Given the description of an element on the screen output the (x, y) to click on. 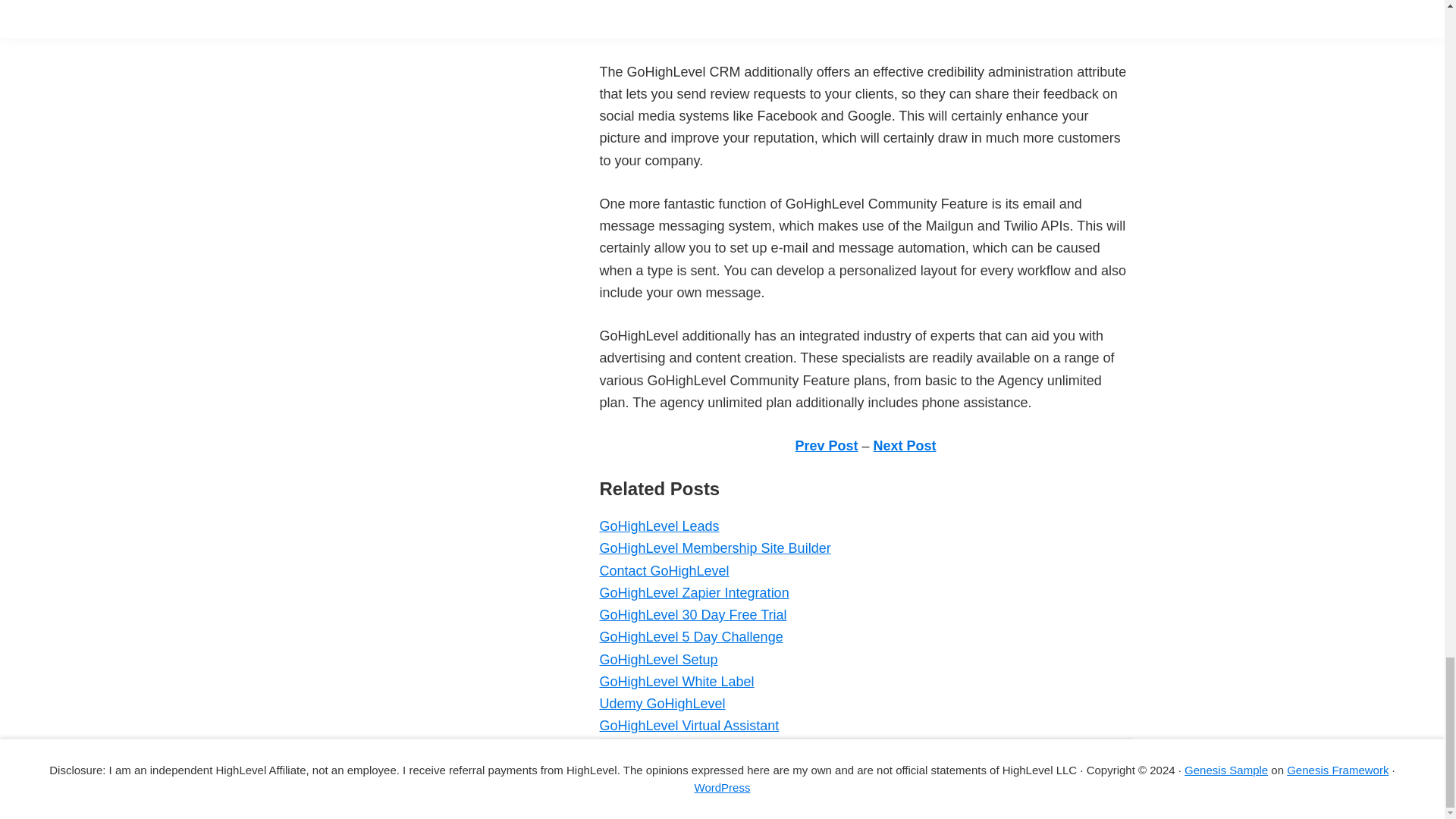
GoHighLevel White Label (676, 681)
GoHighLevel 5 Day Challenge (690, 636)
GoHighLevel Setup (657, 659)
GoHighLevel 30 Day Free Trial (692, 614)
GoHighLevel Virtual Assistant (688, 725)
Udemy GoHighLevel (661, 703)
GoHighLevel Leads (658, 525)
GoHighLevel Setup (657, 659)
GoHighLevel Leads (658, 525)
Prev Post (825, 445)
